Given the description of an element on the screen output the (x, y) to click on. 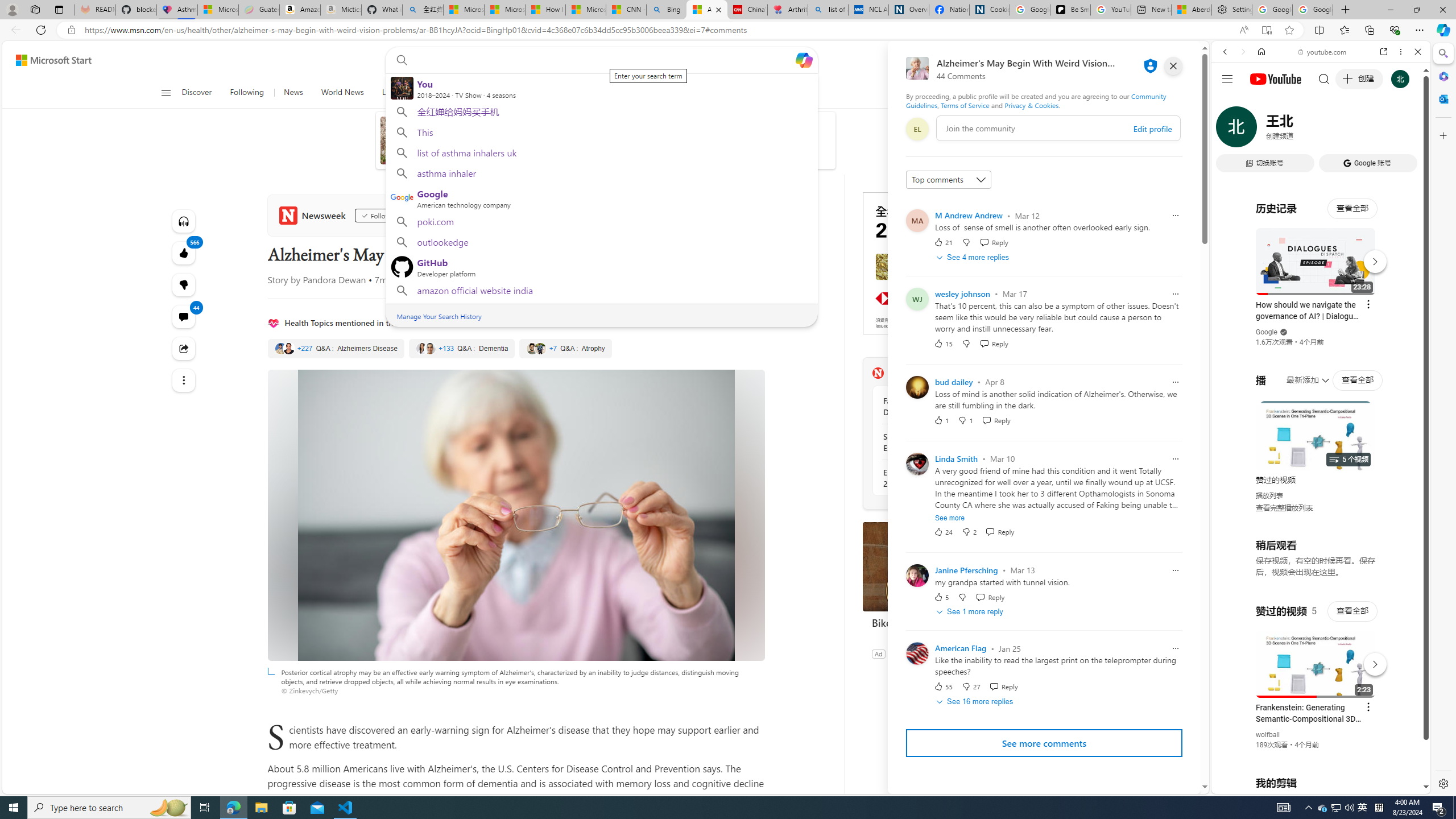
#you (1315, 659)
Community Guidelines (1035, 100)
Class: qc-adchoices-icon (1028, 196)
list of asthma inhalers uk (601, 152)
Personalize (1006, 92)
View comments 44 Comment (183, 316)
Science (430, 92)
Share this story (183, 348)
